Given the description of an element on the screen output the (x, y) to click on. 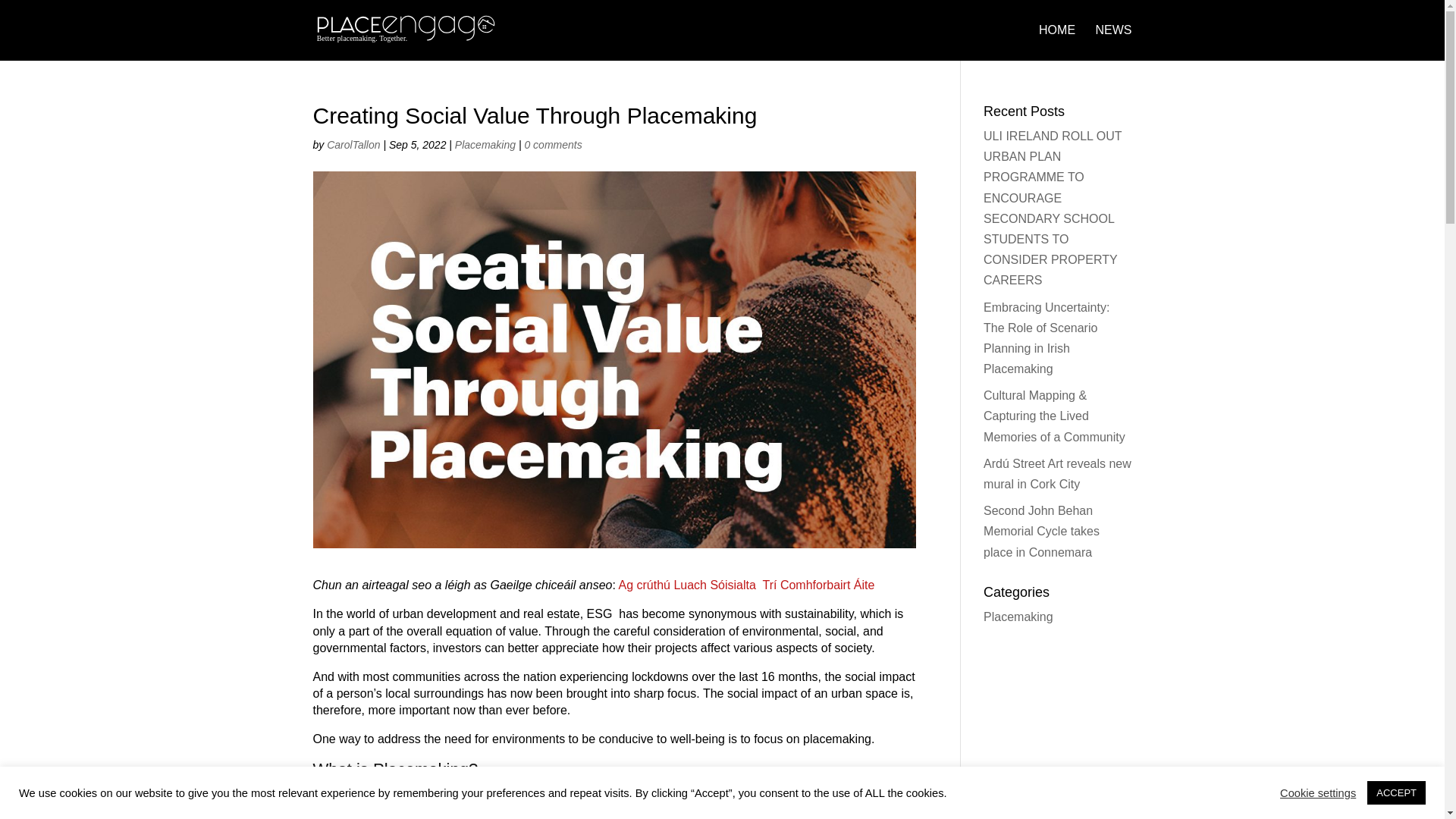
0 comments (552, 144)
NEWS (1112, 42)
Placemaking (484, 144)
HOME (1057, 42)
ACCEPT (1396, 792)
Second John Behan Memorial Cycle takes place in Connemara (1041, 530)
Placemaking (1018, 616)
Posts by CarolTallon (353, 144)
Cookie settings (1317, 792)
